Given the description of an element on the screen output the (x, y) to click on. 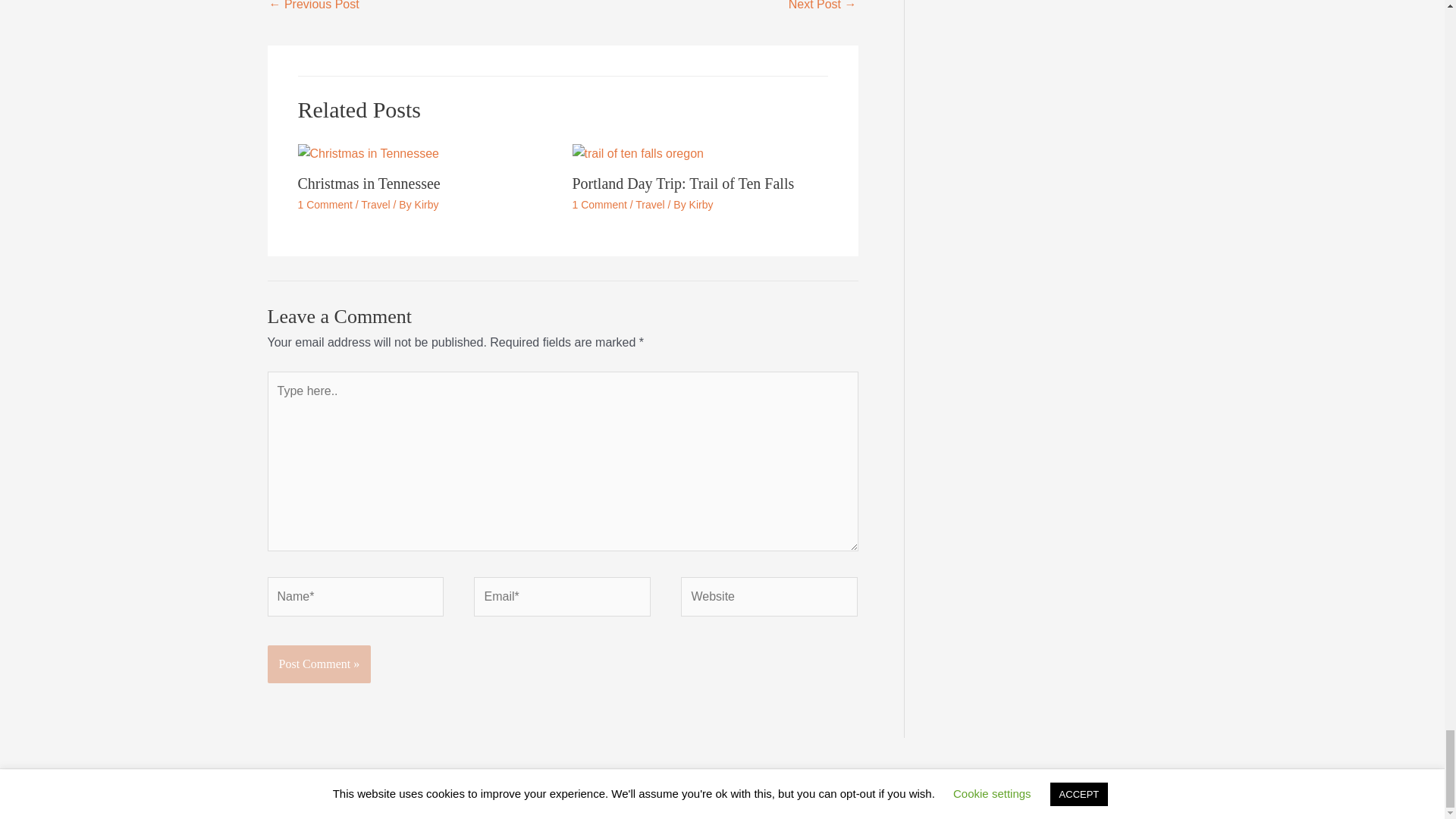
Travel (375, 204)
Christmas in Tennessee (368, 183)
1 Comment (599, 204)
View all posts by Kirby (700, 204)
Za'atar Carrot Bowl (312, 9)
Baked Whipped Feta Dip (823, 9)
Kirby (700, 204)
1 Comment (324, 204)
Travel (648, 204)
Kirby (426, 204)
